Given the description of an element on the screen output the (x, y) to click on. 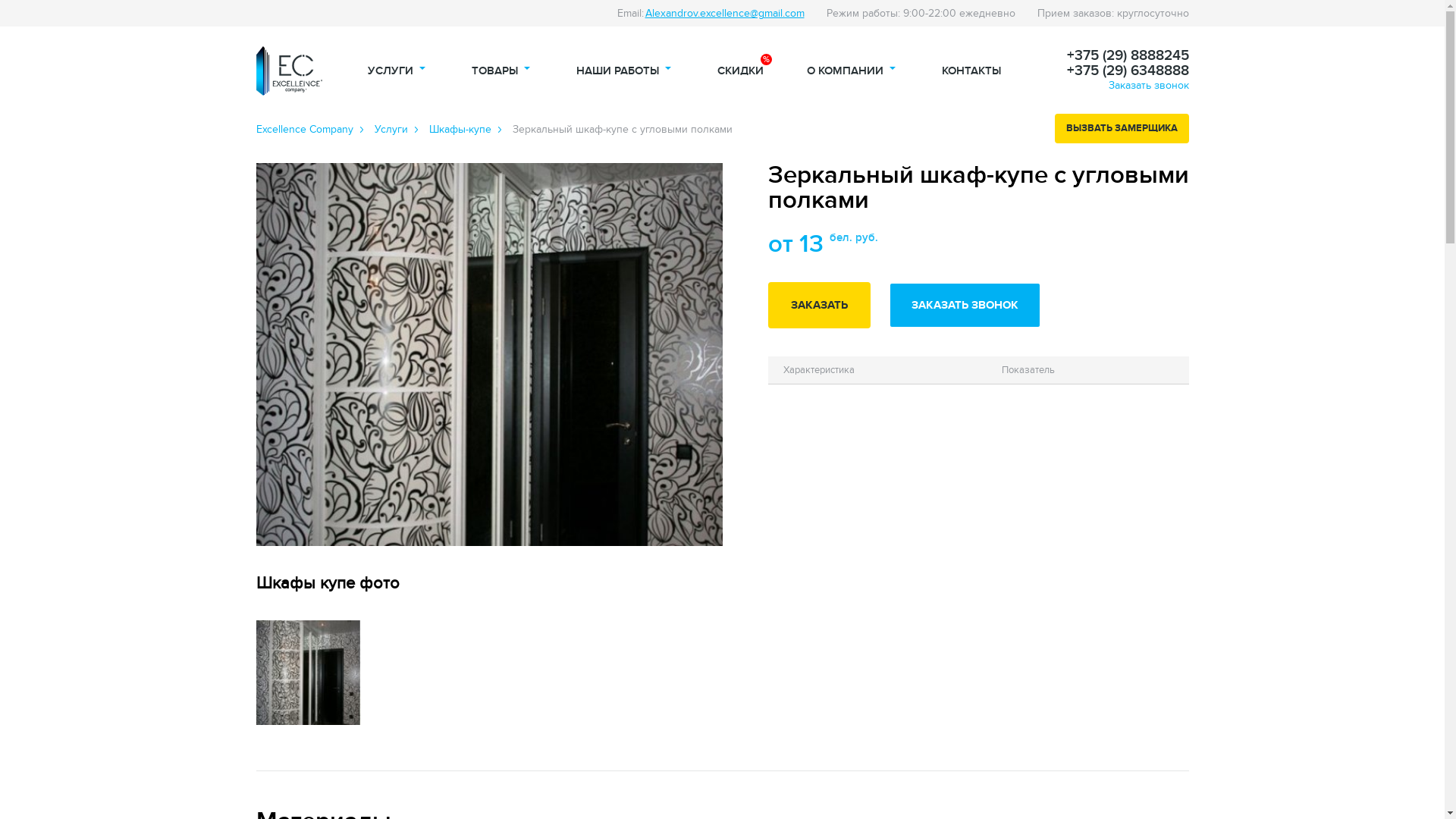
Alexandrov.excellence@gmail.com Element type: text (723, 12)
